Given the description of an element on the screen output the (x, y) to click on. 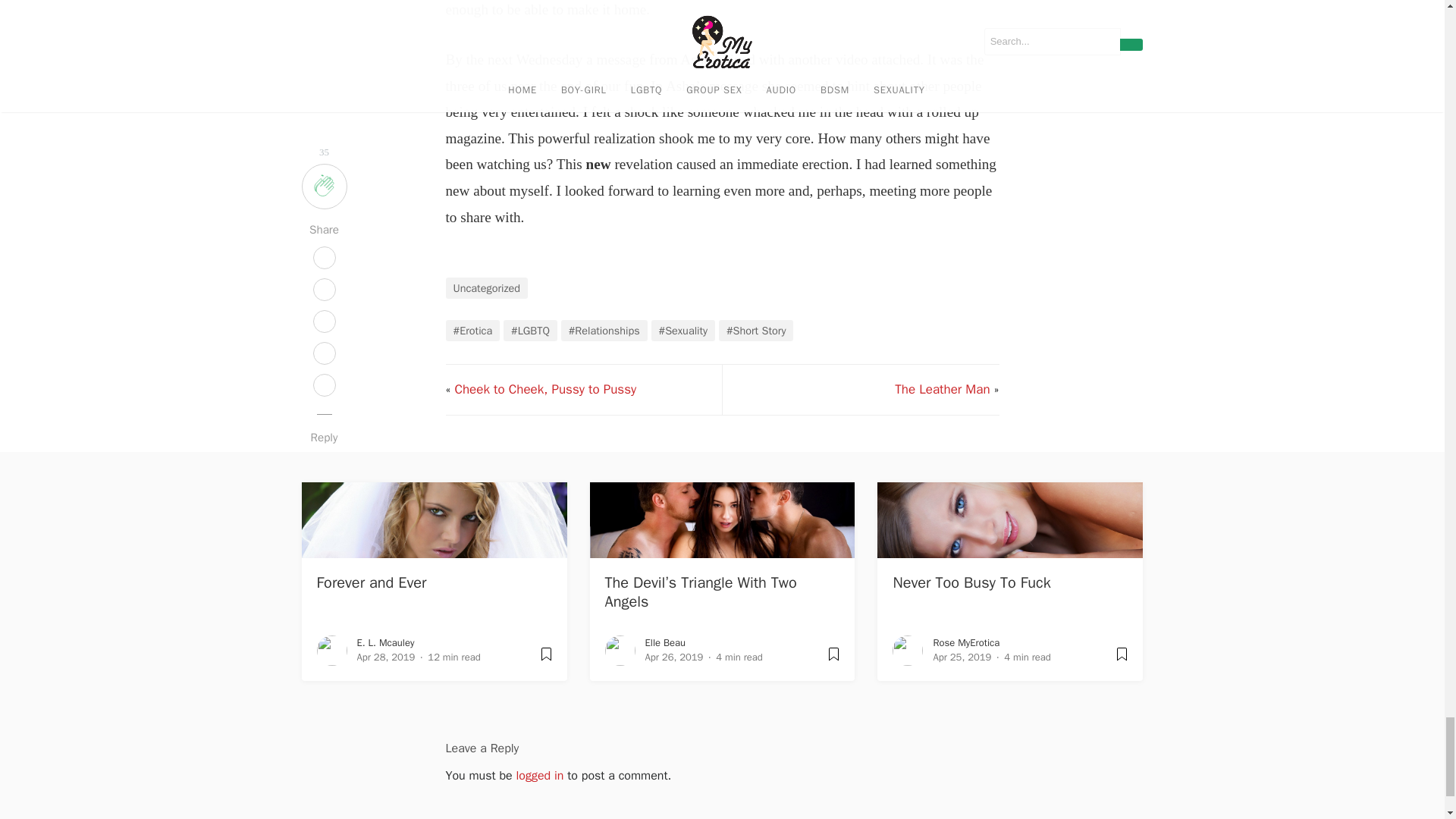
Elle Beau (664, 642)
Uncategorized (486, 287)
Forever and Ever (371, 582)
E. L. Mcauley (385, 642)
Cheek to Cheek, Pussy to Pussy (545, 389)
The Leather Man (942, 389)
